Given the description of an element on the screen output the (x, y) to click on. 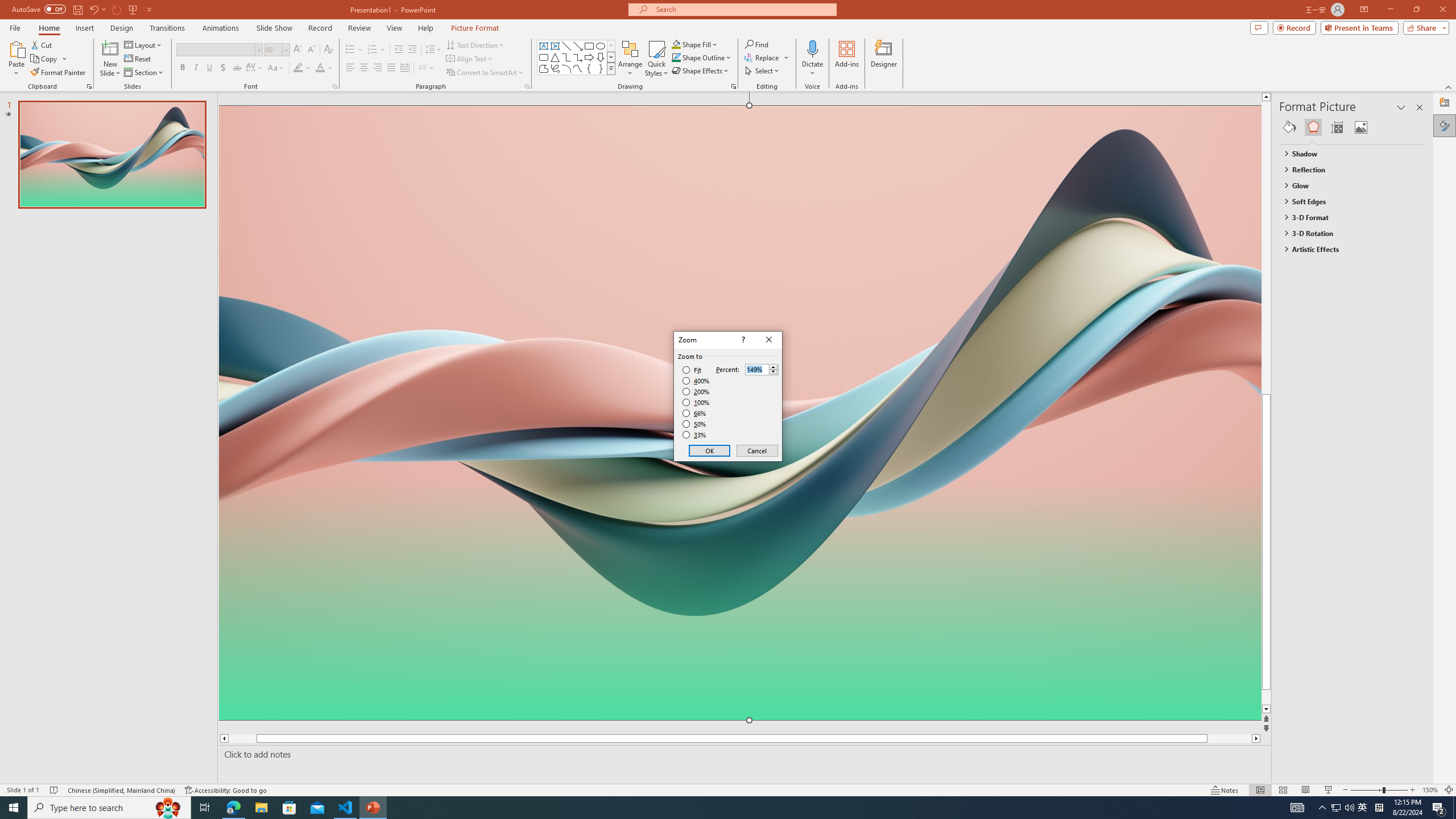
Percent (761, 369)
OK (709, 450)
Class: NetUIGalleryContainer (1352, 126)
200% (696, 391)
